Given the description of an element on the screen output the (x, y) to click on. 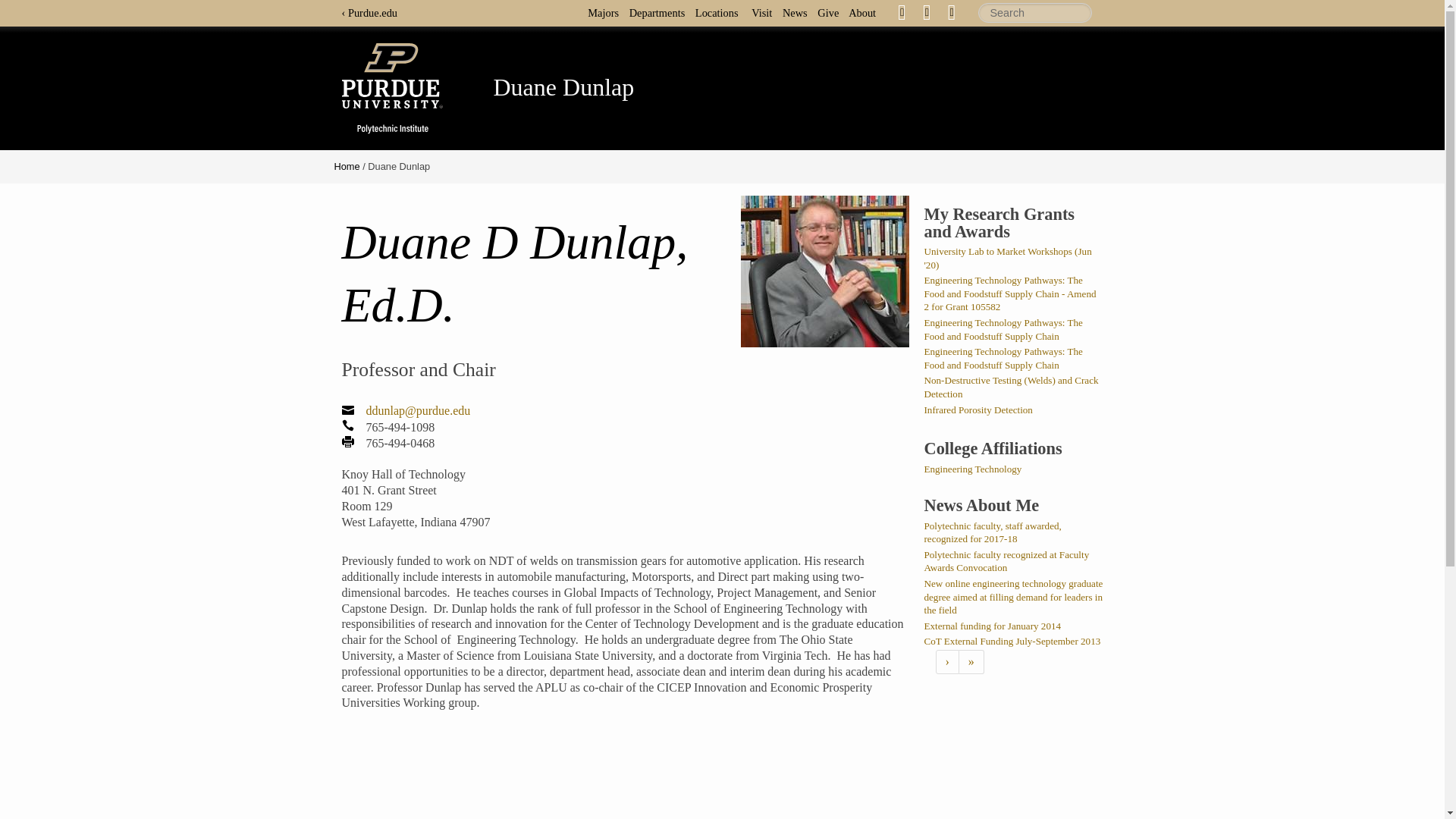
Departments (660, 12)
Polytechnic faculty recognized at Faculty Awards Convocation (1006, 561)
Enter the terms you wish to search for. (1035, 12)
Duane Dunlap (563, 86)
External funding for January 2014 (992, 625)
Search (1035, 12)
Give (830, 12)
Link to facebook (901, 10)
Link to twitter (926, 10)
Majors (607, 12)
